Given the description of an element on the screen output the (x, y) to click on. 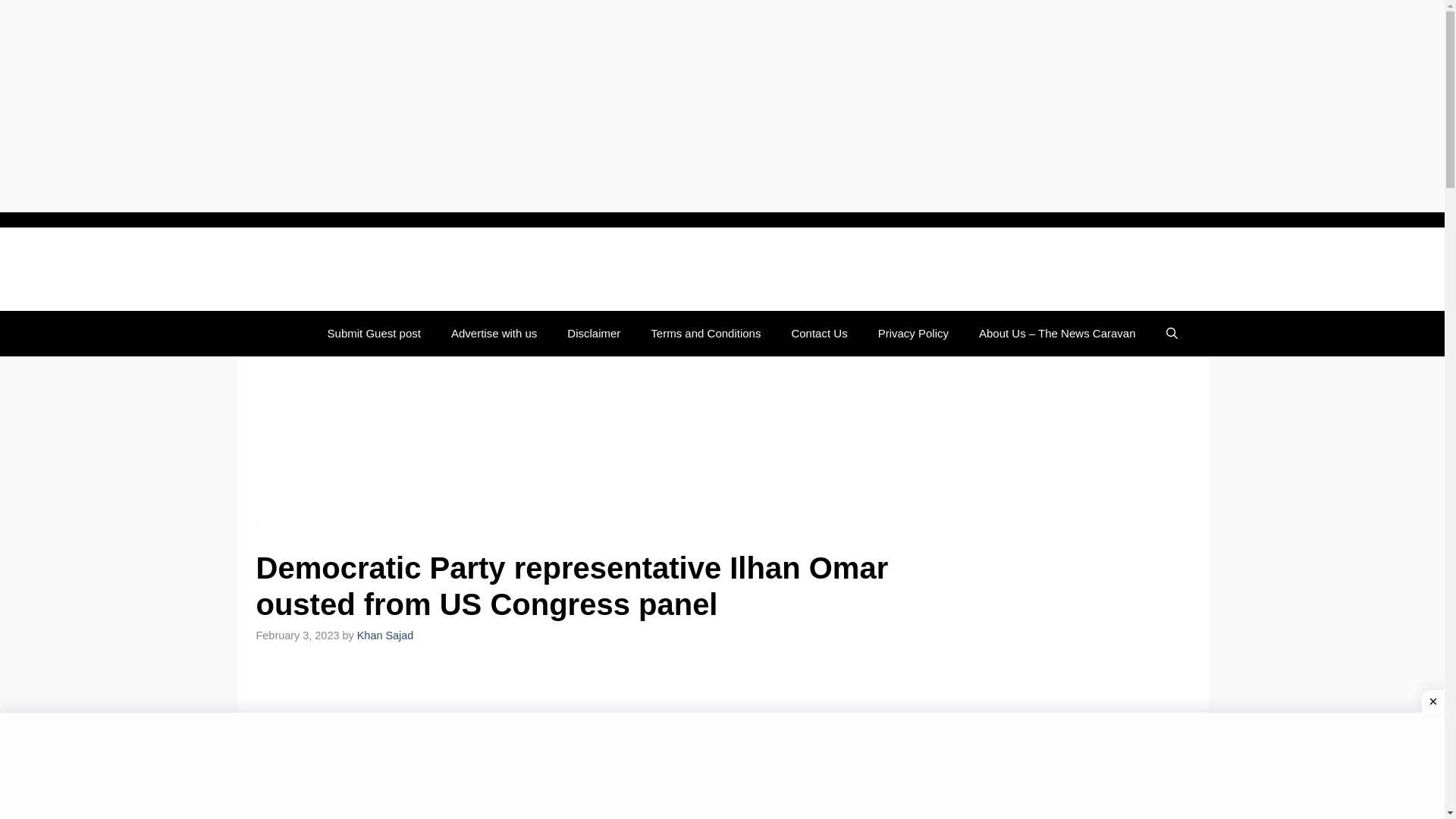
Khan Sajad (384, 635)
Terms and Conditions (705, 333)
Disclaimer (592, 333)
Advertise with us (493, 333)
Advertisement (583, 744)
Contact Us (818, 333)
View all posts by Khan Sajad (384, 635)
Advertisement (583, 438)
Submit Guest post (374, 333)
